Given the description of an element on the screen output the (x, y) to click on. 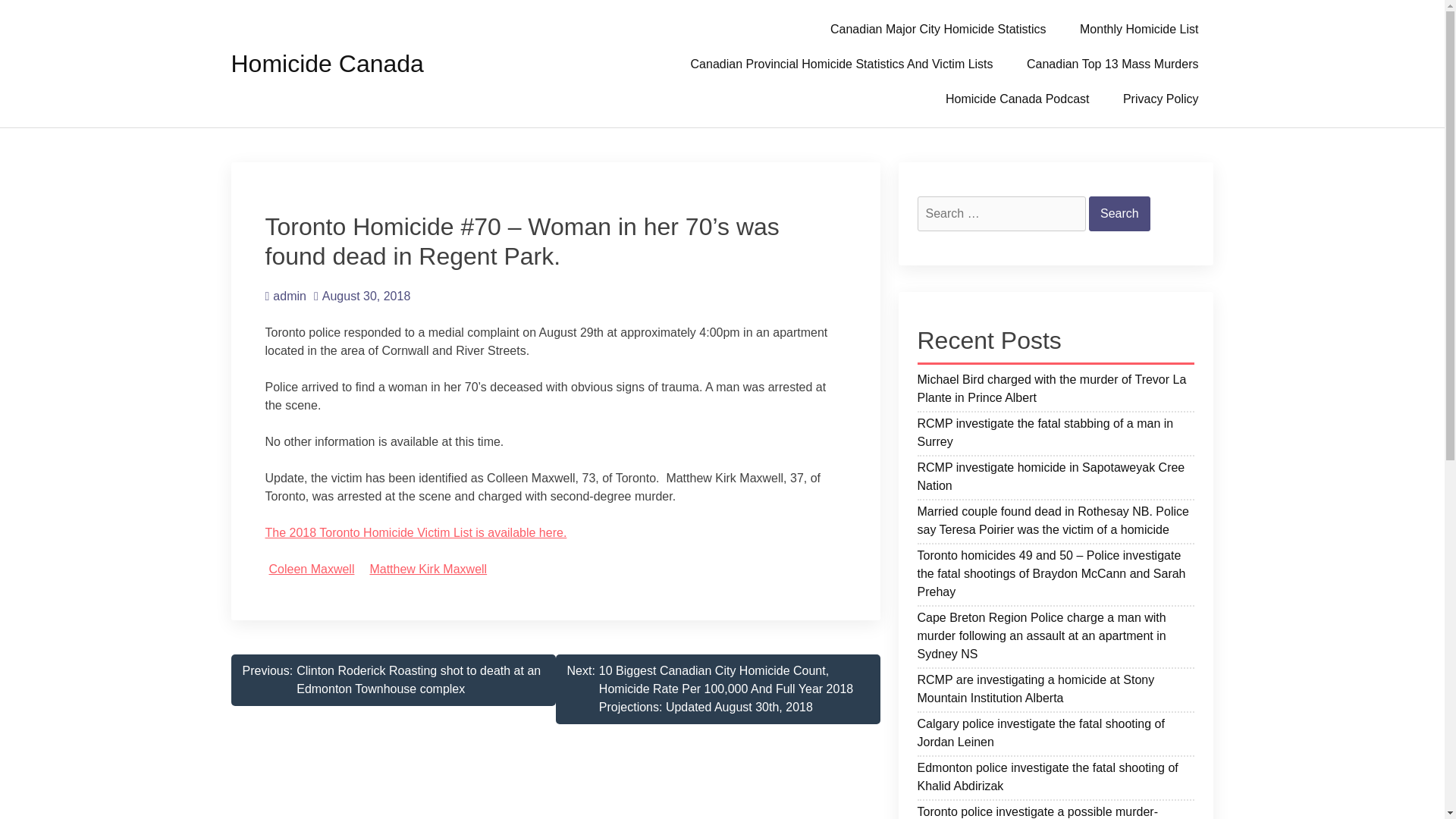
Search (1119, 213)
Canadian Provincial Homicide Statistics And Victim Lists (842, 63)
Canadian Major City Homicide Statistics (938, 28)
Search (1119, 213)
Homicide Canada (326, 62)
Canadian Top 13 Mass Murders (1112, 63)
August 30, 2018 (362, 295)
